Given the description of an element on the screen output the (x, y) to click on. 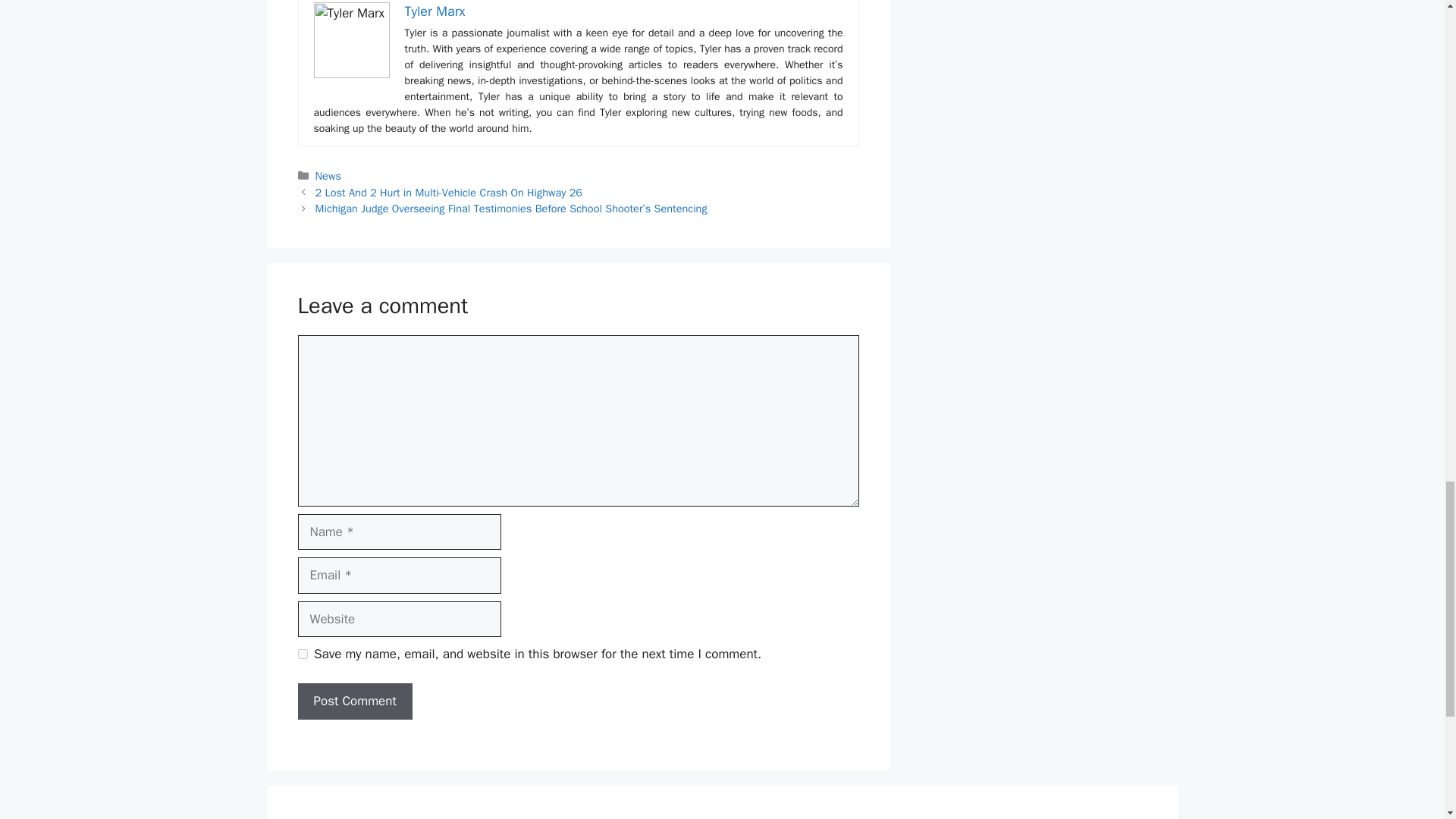
Post Comment (354, 701)
Disclaimer (913, 818)
News (327, 175)
2 Lost And 2 Hurt in Multi-Vehicle Crash On Highway 26 (448, 192)
yes (302, 654)
Post Comment (354, 701)
Fact Policy (620, 818)
Tyler Marx (434, 11)
About Us (322, 818)
